Given the description of an element on the screen output the (x, y) to click on. 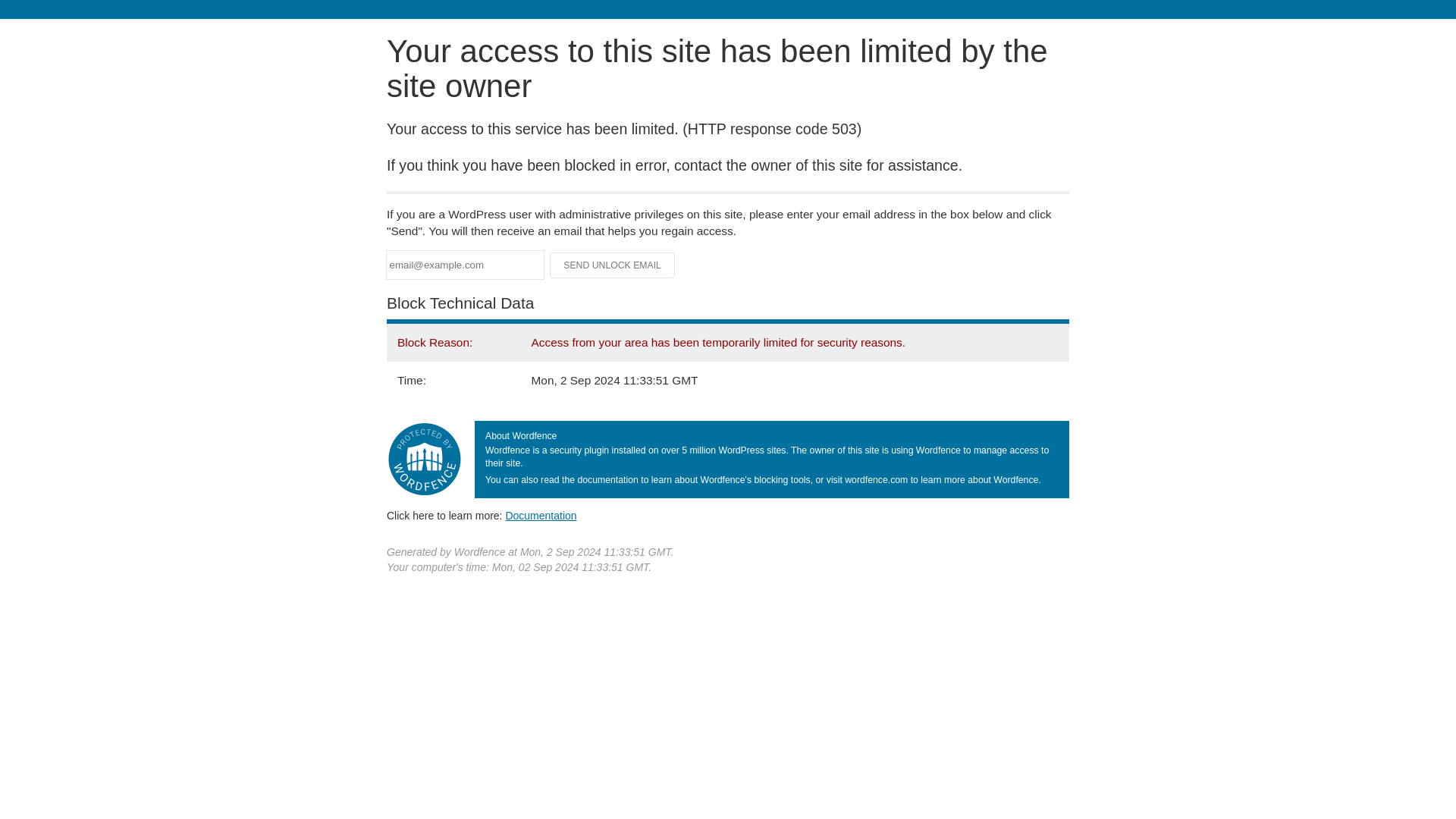
Documentation (540, 515)
Send Unlock Email (612, 265)
Send Unlock Email (612, 265)
